Given the description of an element on the screen output the (x, y) to click on. 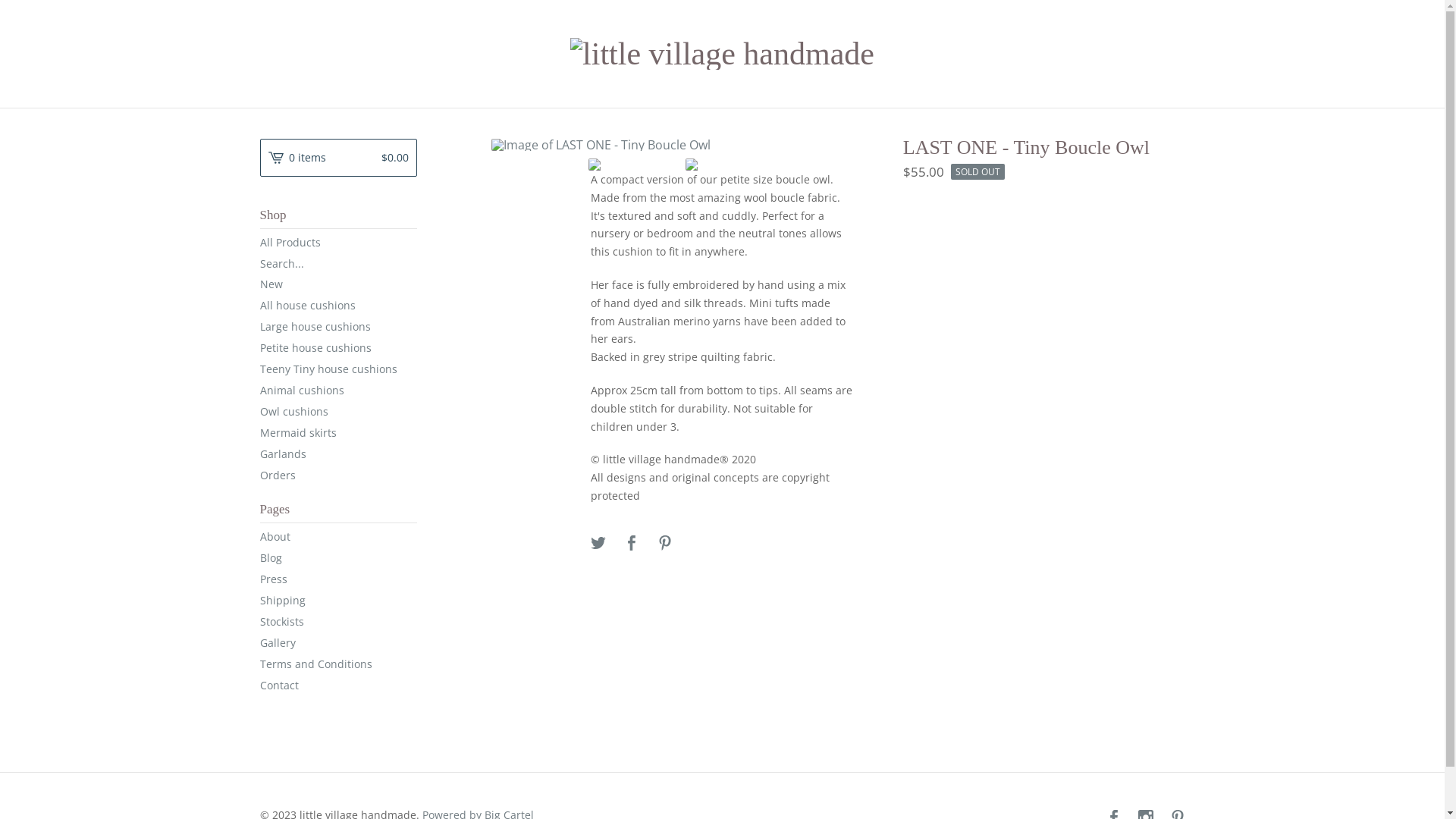
Mermaid skirts Element type: text (337, 432)
Owl cushions Element type: text (337, 411)
Like or Share Element type: hover (631, 543)
Teeny Tiny house cushions Element type: text (337, 368)
Terms and Conditions Element type: text (337, 663)
Contact Element type: text (337, 685)
Orders Element type: text (337, 475)
Pin Element type: hover (664, 543)
Petite house cushions Element type: text (337, 347)
Animal cushions Element type: text (337, 390)
Tweet Element type: hover (597, 543)
Press Element type: text (337, 578)
Stockists Element type: text (337, 621)
All house cushions Element type: text (337, 305)
0 items
$0.00 Element type: text (337, 157)
About Element type: text (337, 536)
Shipping Element type: text (337, 600)
Garlands Element type: text (337, 453)
little village handmade Element type: hover (722, 53)
Large house cushions Element type: text (337, 326)
Gallery Element type: text (337, 642)
New Element type: text (337, 283)
Blog Element type: text (337, 557)
All Products Element type: text (337, 242)
